Given the description of an element on the screen output the (x, y) to click on. 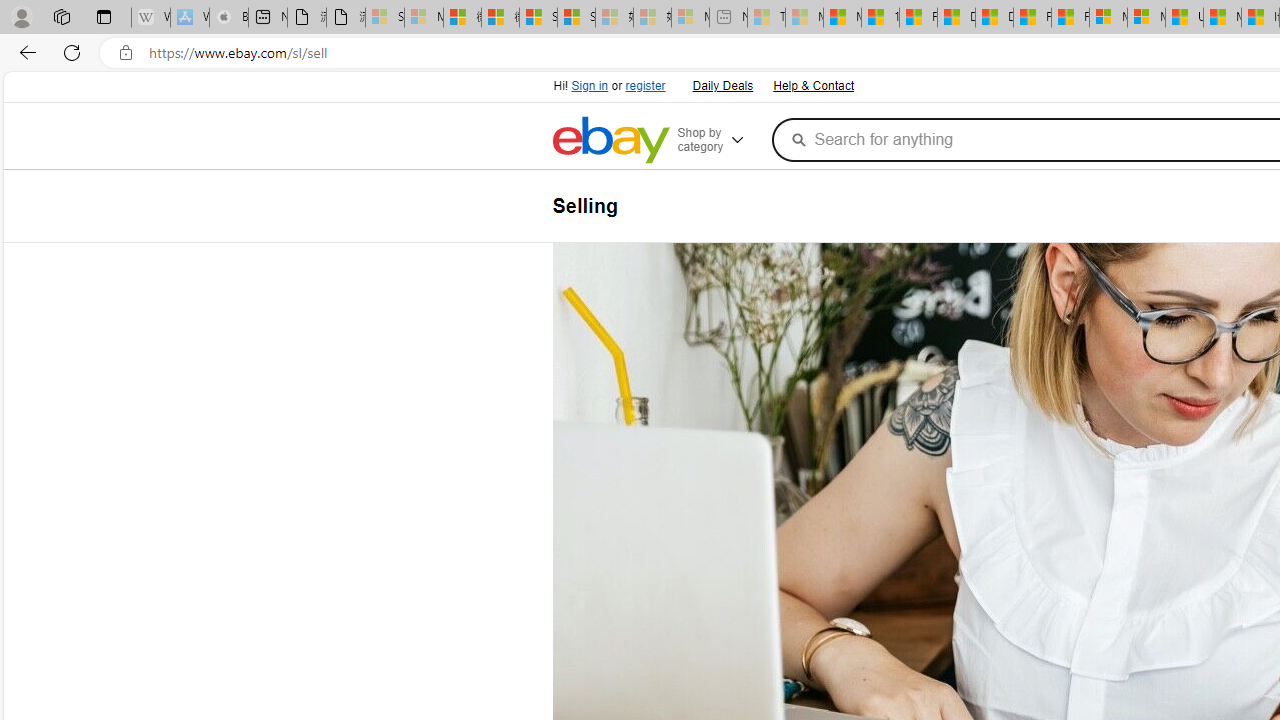
Food and Drink - MSN (917, 17)
Top Stories - MSN - Sleeping (765, 17)
New tab - Sleeping (728, 17)
Help & Contact (811, 84)
